Given the description of an element on the screen output the (x, y) to click on. 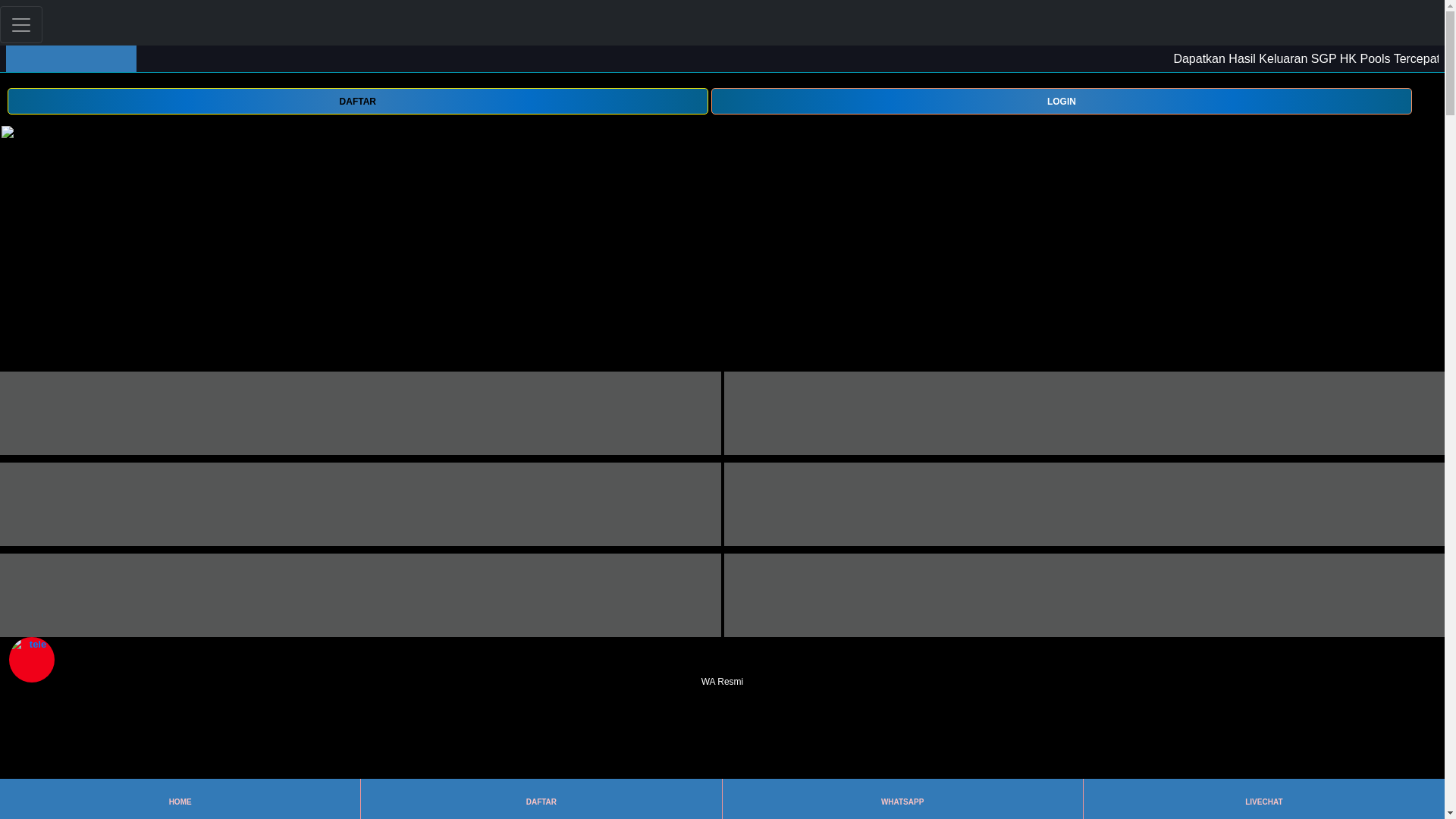
WHATSAPP (901, 798)
DAFTAR (357, 100)
HOME (179, 798)
DAFTAR (357, 100)
LOGIN (1061, 100)
DAFTAR (540, 798)
WA Resmi (722, 672)
LIVECHAT (1263, 798)
LOGIN (1061, 100)
